Given the description of an element on the screen output the (x, y) to click on. 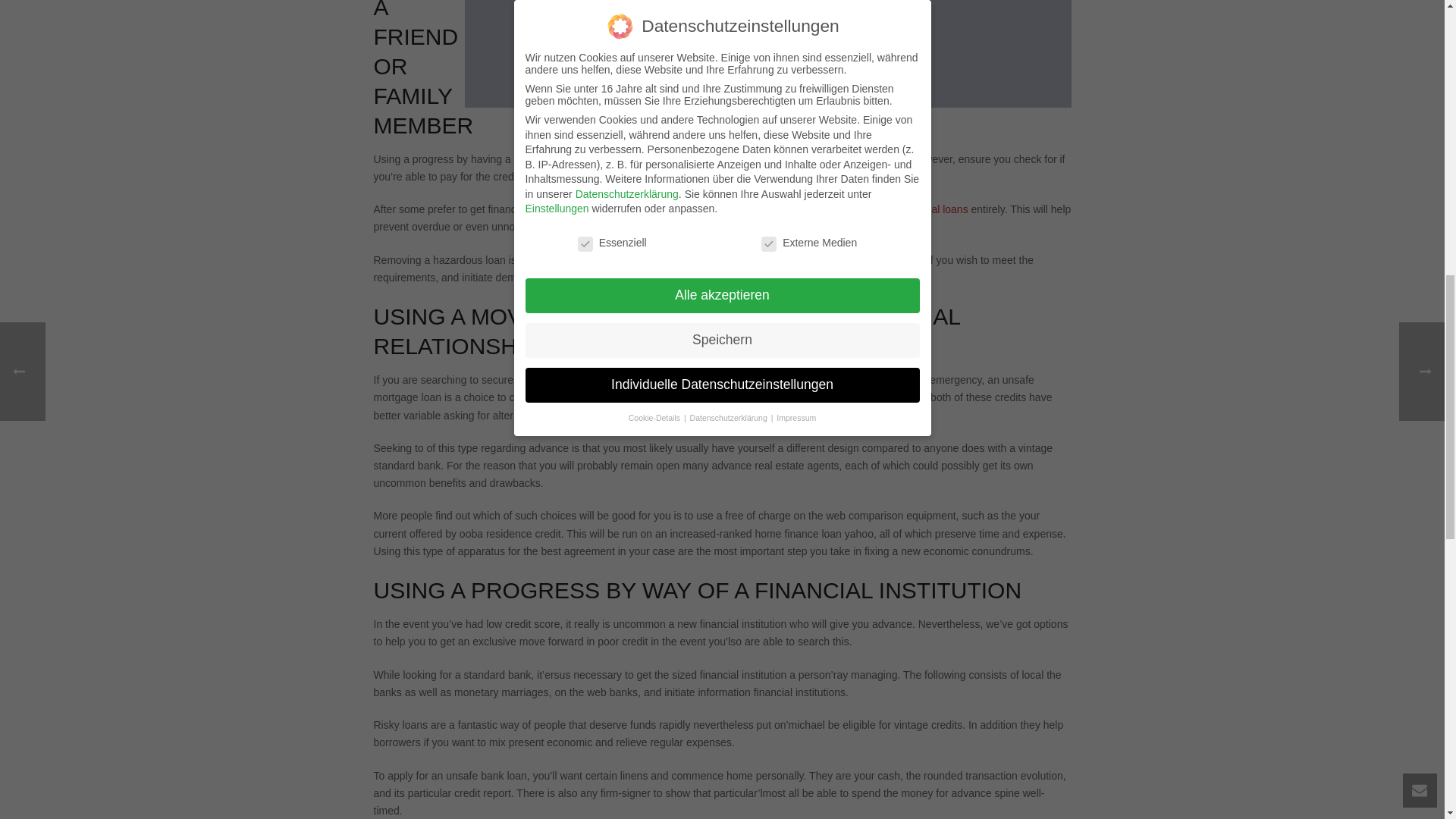
best personal loans (922, 209)
